Given the description of an element on the screen output the (x, y) to click on. 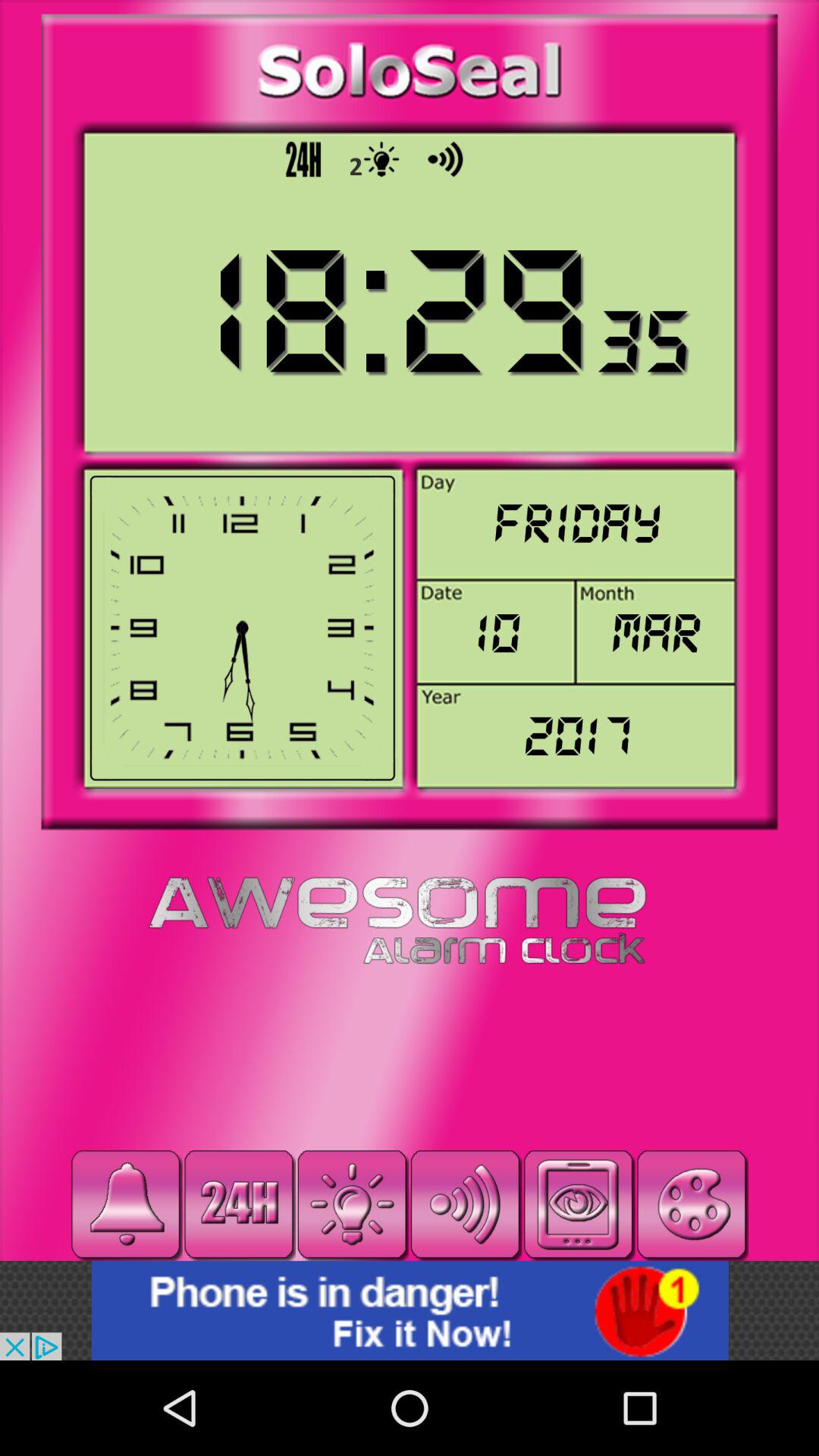
toggle sound option (465, 1203)
